Given the description of an element on the screen output the (x, y) to click on. 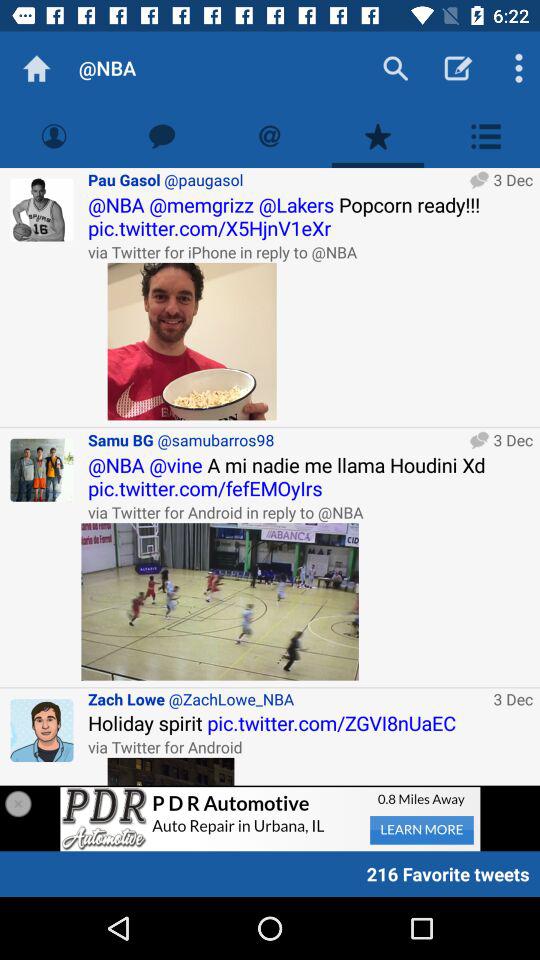
show profile (54, 136)
